Given the description of an element on the screen output the (x, y) to click on. 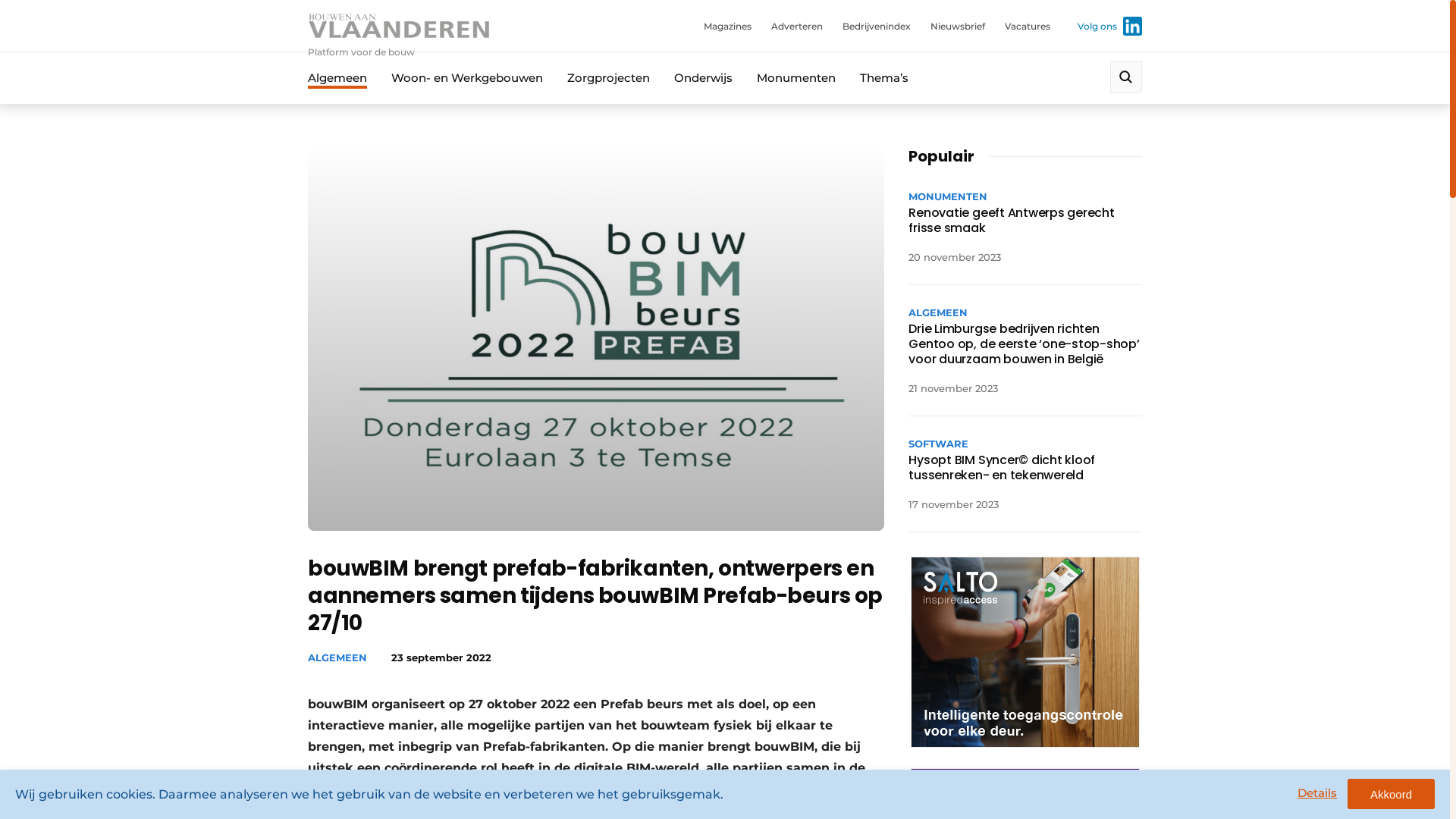
Akkoord Element type: text (1390, 793)
Onderwijs Element type: text (703, 77)
Vacatures Element type: text (1027, 25)
Adverteren Element type: text (796, 25)
Zorgprojecten Element type: text (608, 77)
Monumenten Element type: text (795, 77)
Algemeen Element type: text (337, 77)
Details Element type: text (1316, 792)
Nieuwsbrief Element type: text (957, 25)
Magazines Element type: text (727, 25)
Woon- en Werkgebouwen Element type: text (466, 77)
Bedrijvenindex Element type: text (876, 25)
